Given the description of an element on the screen output the (x, y) to click on. 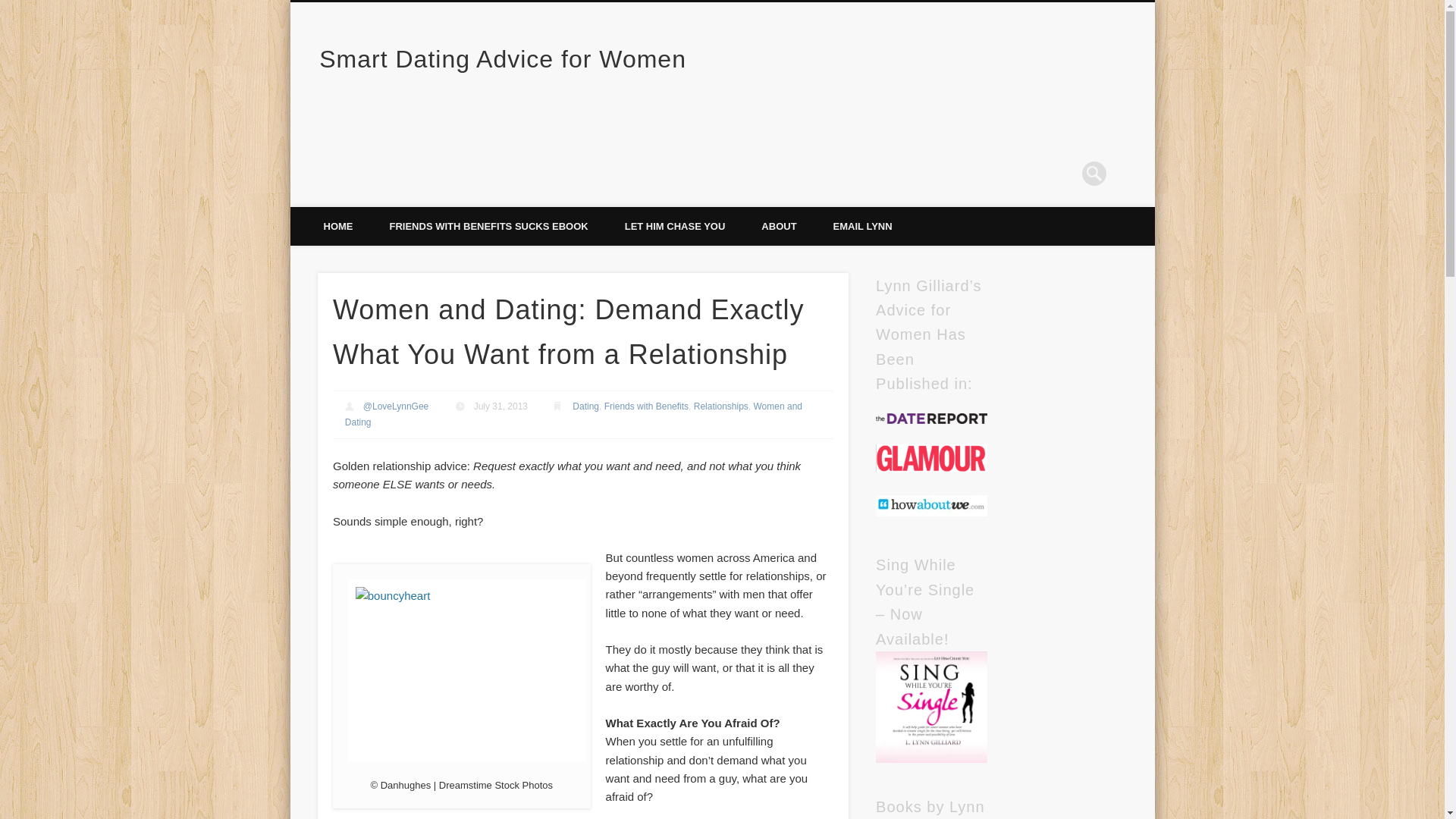
Search (11, 7)
HOME (337, 226)
ABOUT (777, 226)
FRIENDS WITH BENEFITS SUCKS EBOOK (489, 226)
LET HIM CHASE YOU (675, 226)
EMAIL LYNN (863, 226)
Friends with Benefits (646, 406)
Women and Dating (573, 414)
Dating (585, 406)
Smart Dating Advice for Women (501, 58)
Relationships (721, 406)
